Given the description of an element on the screen output the (x, y) to click on. 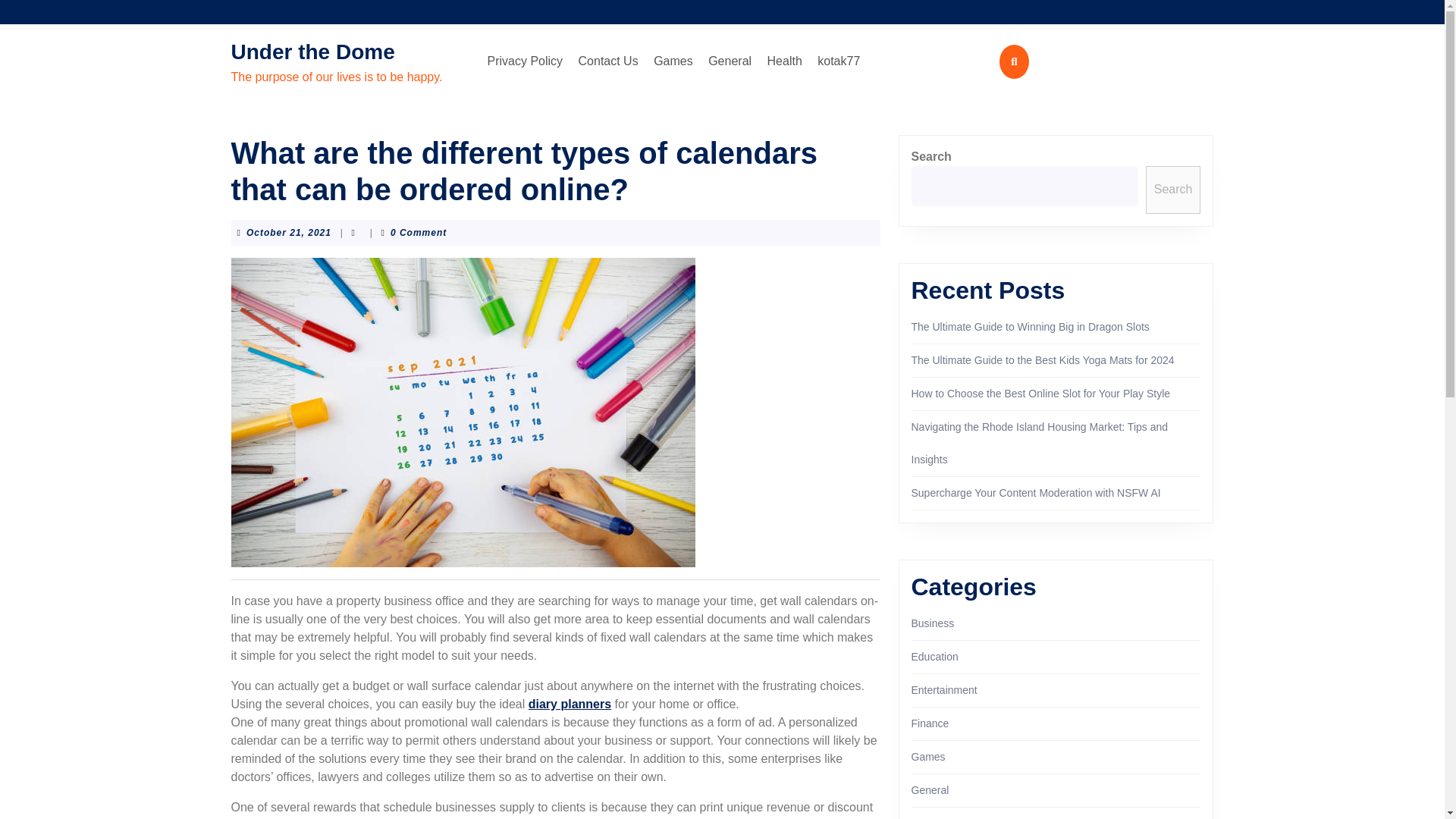
How to Choose the Best Online Slot for Your Play Style (1040, 393)
Education (934, 656)
Contact Us (608, 60)
The Ultimate Guide to Winning Big in Dragon Slots (1030, 326)
Finance (288, 232)
Games (930, 723)
diary planners (927, 756)
Games (569, 703)
Under the Dome (672, 60)
Supercharge Your Content Moderation with NSFW AI (312, 51)
kotak77 (1035, 492)
Entertainment (838, 60)
The Ultimate Guide to the Best Kids Yoga Mats for 2024 (943, 689)
Health (1042, 359)
